Given the description of an element on the screen output the (x, y) to click on. 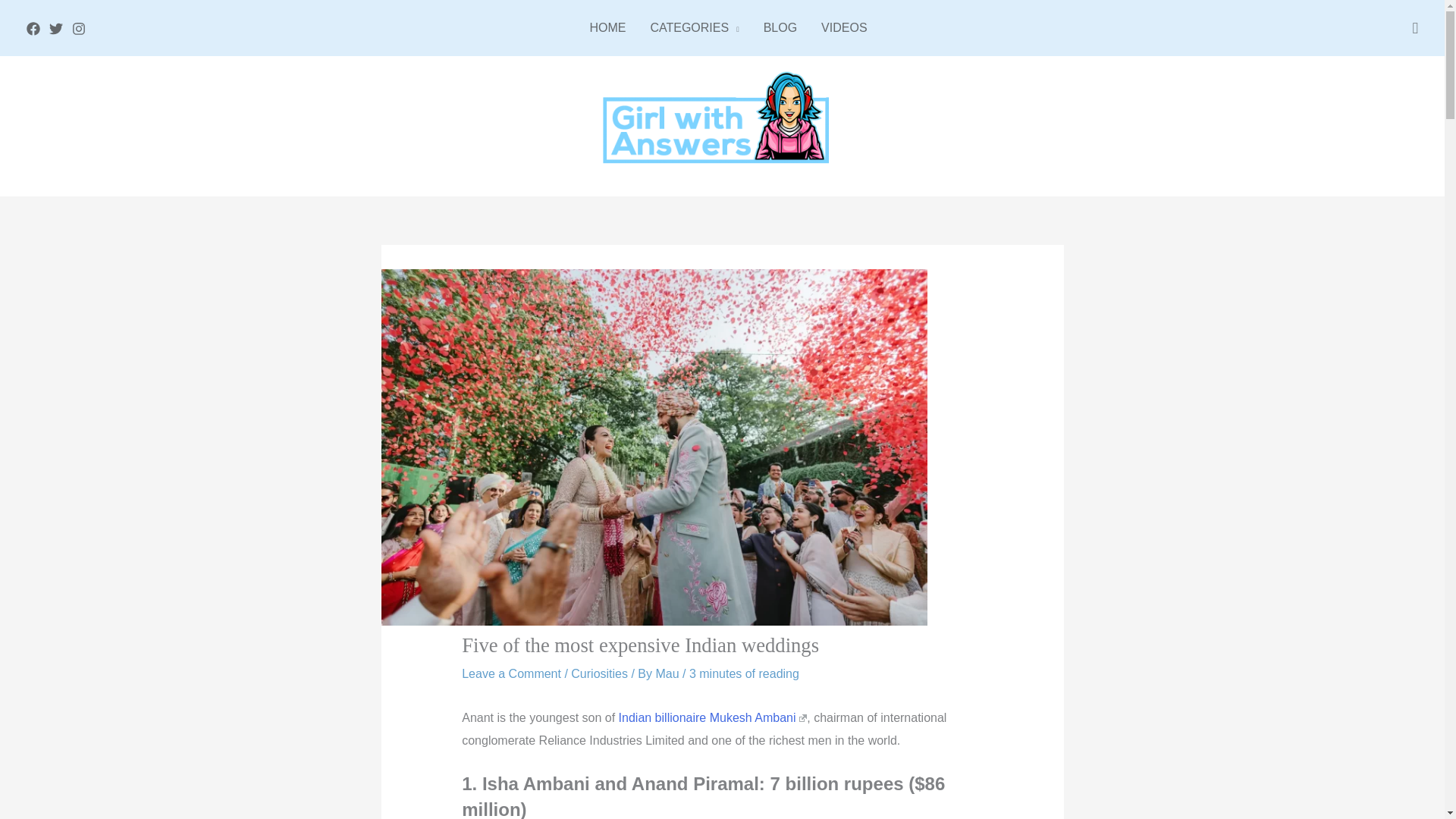
HOME (606, 28)
View all posts by Mau (668, 673)
Leave a Comment (510, 673)
CATEGORIES (694, 28)
Indian billionaire Mukesh Ambani (713, 717)
Curiosities (598, 673)
Mau (668, 673)
BLOG (780, 28)
VIDEOS (837, 28)
